Given the description of an element on the screen output the (x, y) to click on. 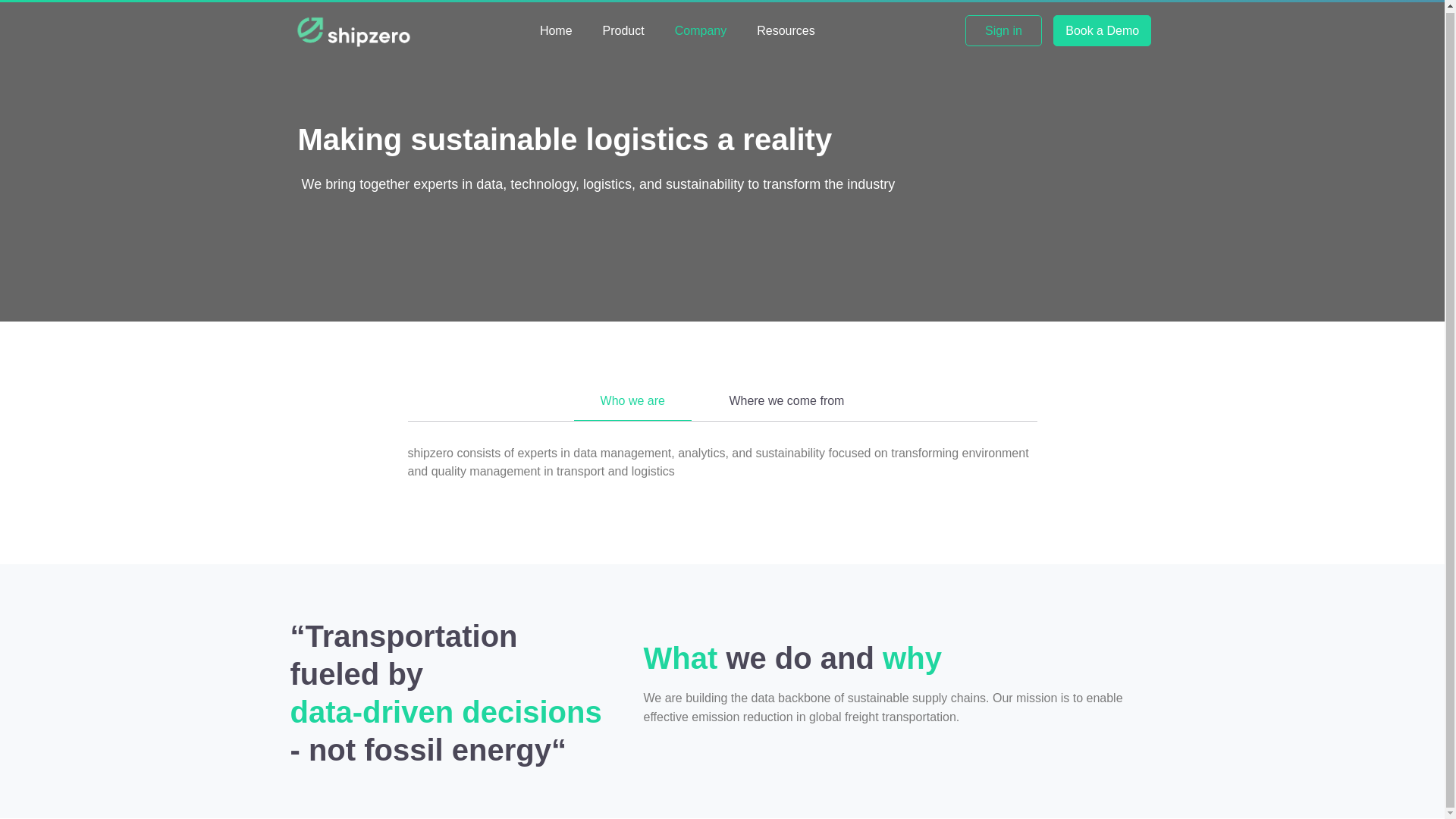
Sign in (972, 30)
Home (556, 31)
Company (700, 31)
Book a Demo (1100, 30)
What we do and why (898, 656)
Resources (785, 31)
Sign in (1003, 30)
